Given the description of an element on the screen output the (x, y) to click on. 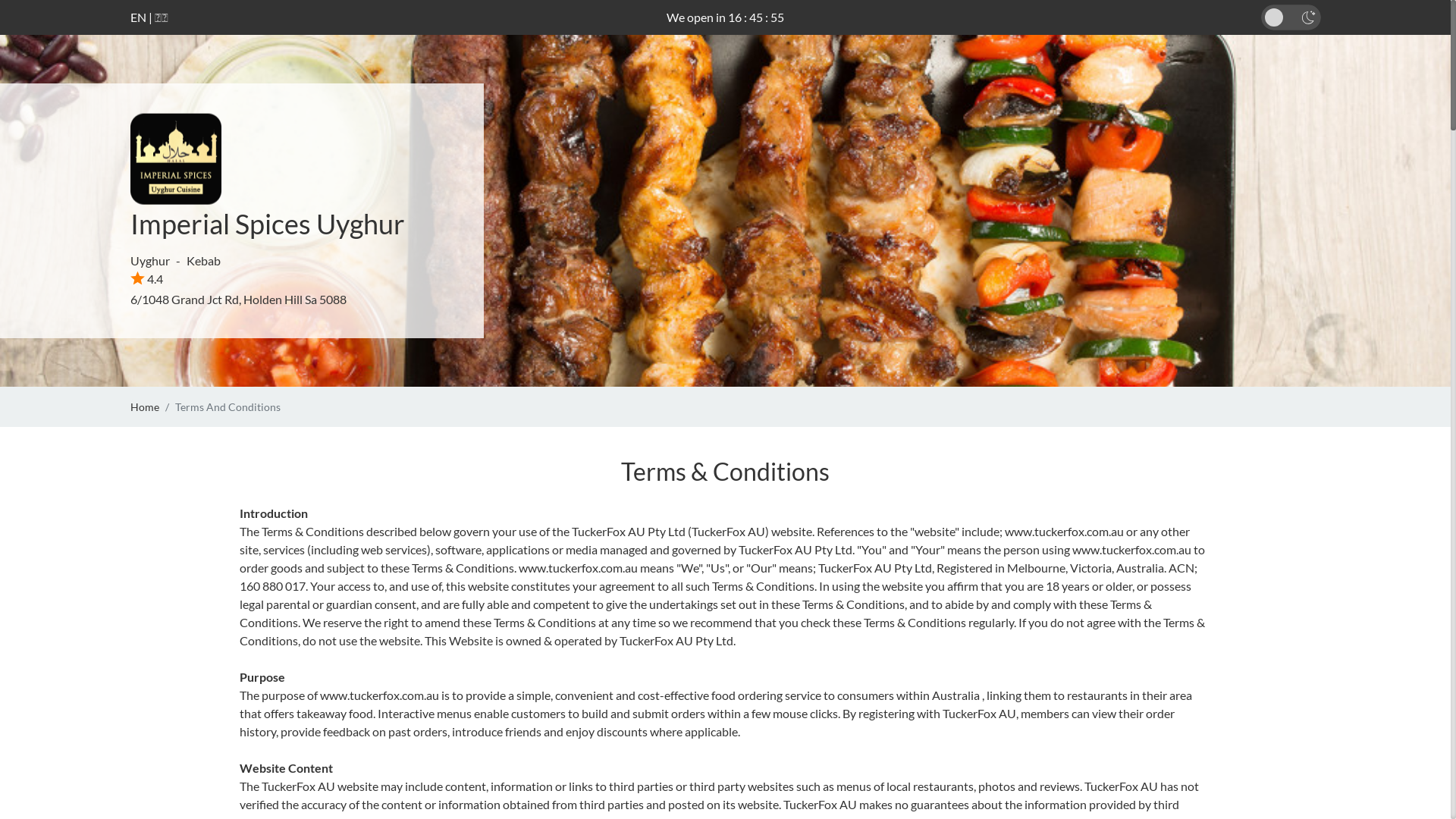
Home Element type: text (144, 406)
EN Element type: text (138, 16)
4.4 Element type: text (146, 278)
Imperial Spices Uyghur Element type: text (267, 223)
